Given the description of an element on the screen output the (x, y) to click on. 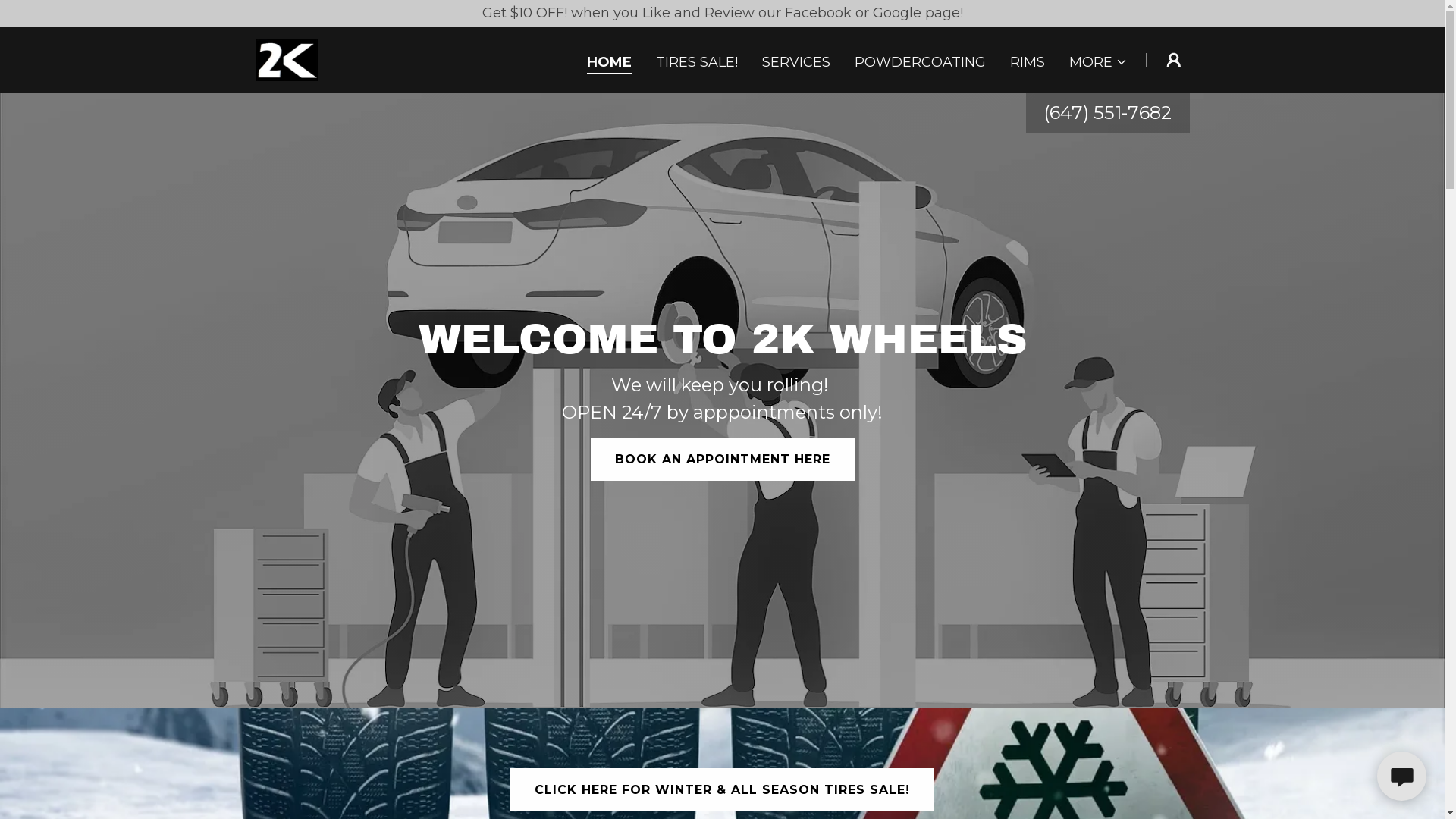
TIRES SALE! Element type: text (696, 61)
RIMS Element type: text (1027, 61)
HOME Element type: text (608, 63)
2kwheels Element type: hover (286, 58)
POWDERCOATING Element type: text (920, 61)
BOOK AN APPOINTMENT HERE Element type: text (721, 459)
CLICK HERE FOR WINTER & ALL SEASON TIRES SALE! Element type: text (722, 789)
SERVICES Element type: text (795, 61)
MORE Element type: text (1098, 62)
(647) 551-7682 Element type: text (1106, 112)
